Given the description of an element on the screen output the (x, y) to click on. 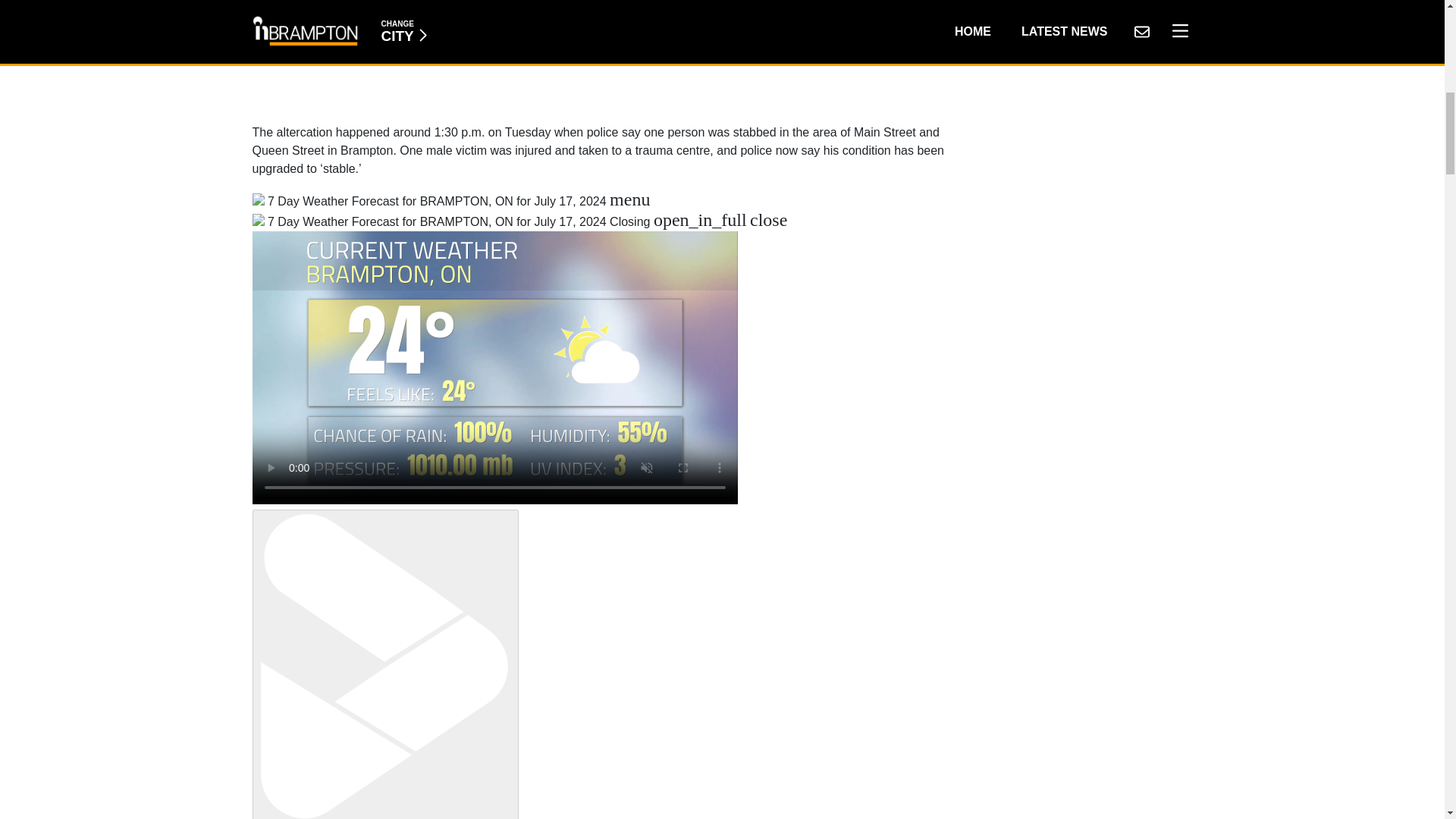
3rd party ad content (601, 54)
